Given the description of an element on the screen output the (x, y) to click on. 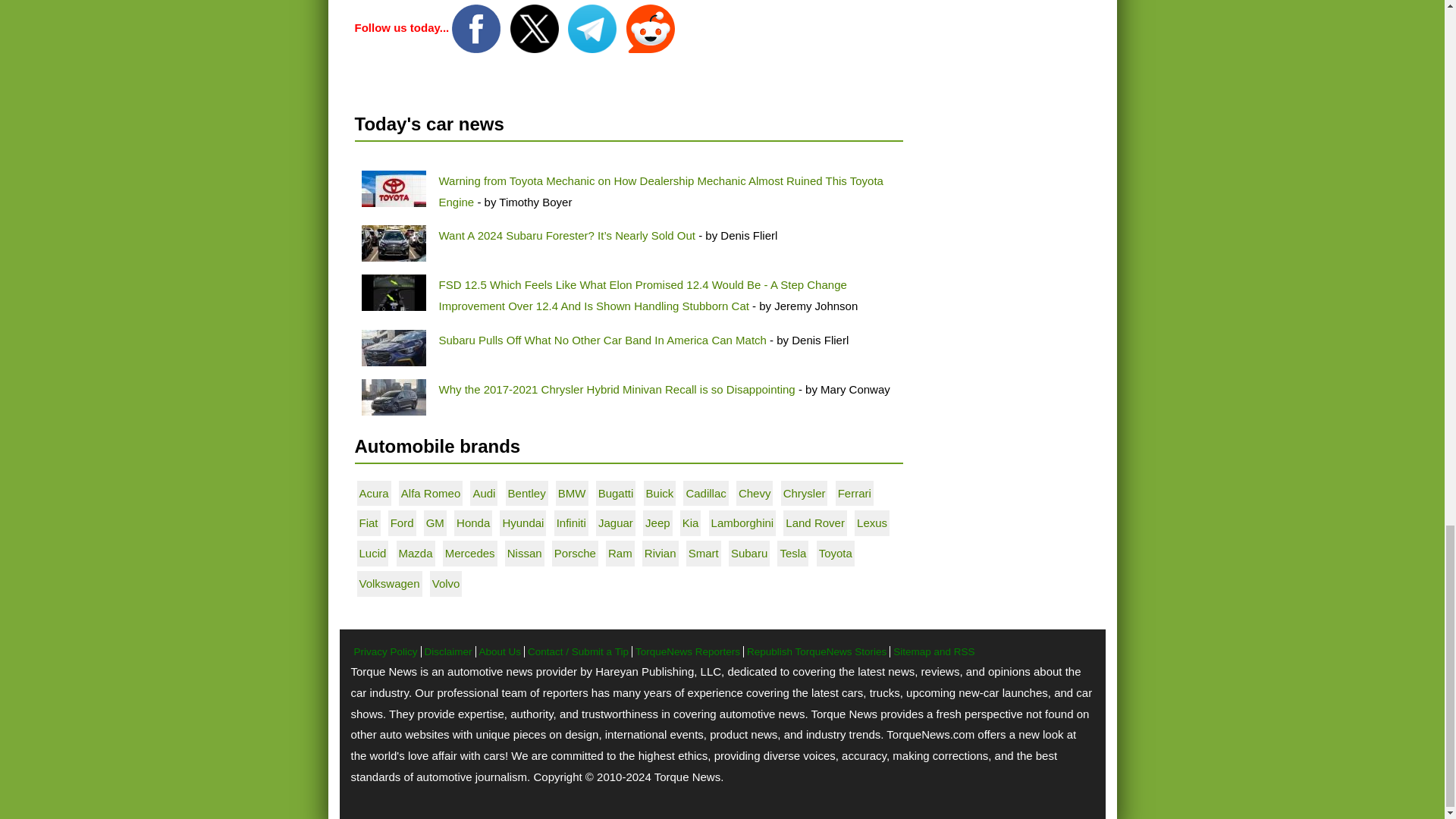
Subaru Pulls Off What No Other Car Band In America Can Match (601, 339)
2024 Subaru Crosstrek front end view  (393, 348)
Join us on Reddit! (650, 27)
Acura (373, 492)
2024 Subaru Forester front view (393, 243)
Alfa Romeo (430, 492)
Common Way Car Owners Ruin Their Car's Engine (393, 188)
Chrysler Photo (393, 397)
Join us on Telegram! (593, 27)
Audi (483, 492)
